Given the description of an element on the screen output the (x, y) to click on. 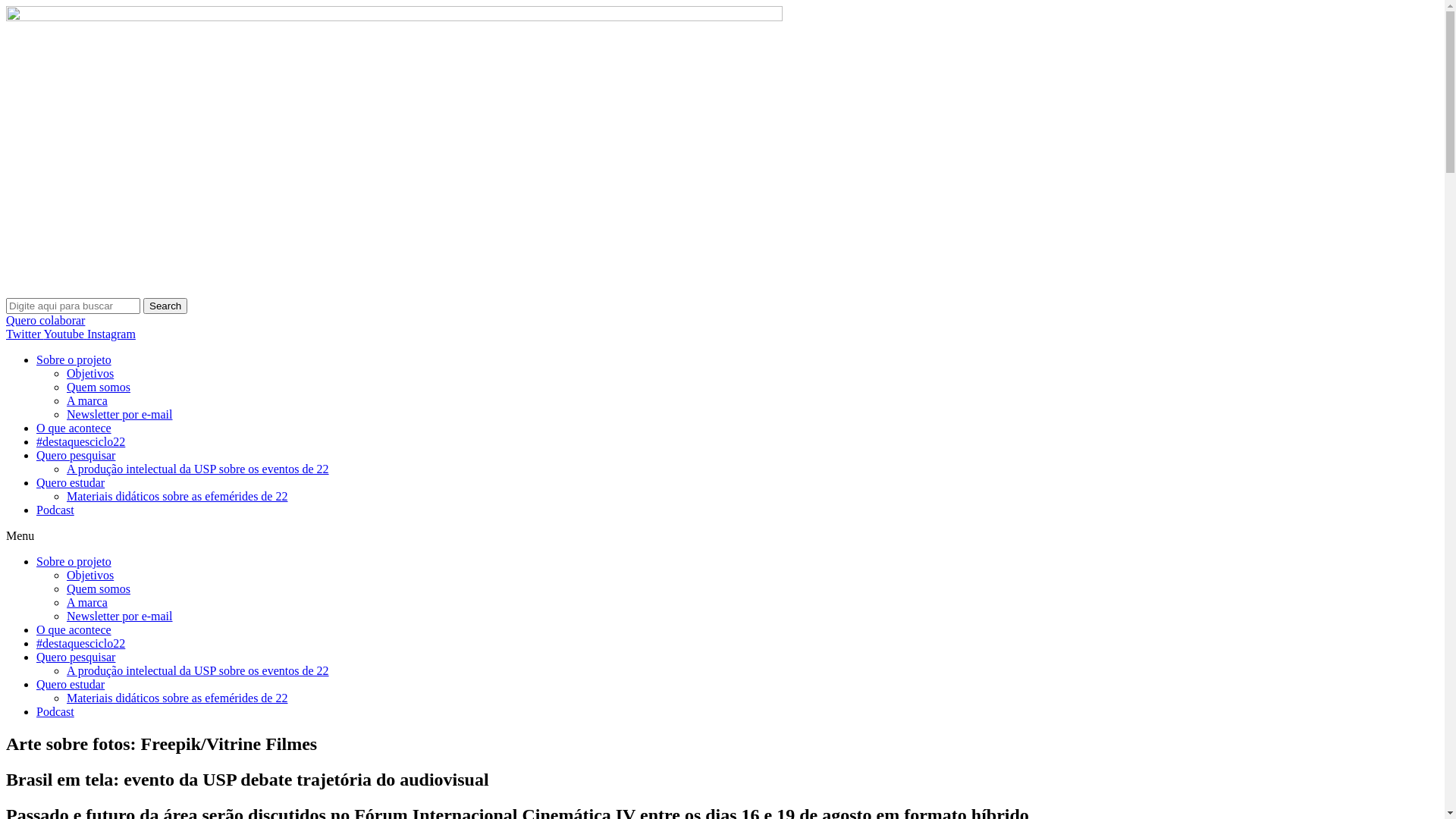
Quero colaborar Element type: text (45, 319)
#destaquesciclo22 Element type: text (80, 441)
Quem somos Element type: text (98, 588)
Quero pesquisar Element type: text (75, 454)
Quem somos Element type: text (98, 386)
O que acontece Element type: text (73, 427)
Quero estudar Element type: text (70, 482)
Search Element type: text (165, 305)
Quero pesquisar Element type: text (75, 656)
O que acontece Element type: text (73, 629)
Newsletter por e-mail Element type: text (119, 413)
Sobre o projeto Element type: text (73, 359)
Sobre o projeto Element type: text (73, 561)
Objetivos Element type: text (89, 574)
Podcast Element type: text (55, 509)
A marca Element type: text (86, 400)
Podcast Element type: text (55, 711)
Newsletter por e-mail Element type: text (119, 615)
Quero estudar Element type: text (70, 683)
#destaquesciclo22 Element type: text (80, 643)
Objetivos Element type: text (89, 373)
Instagram Element type: text (111, 333)
Twitter Element type: text (24, 333)
A marca Element type: text (86, 602)
Search Element type: hover (73, 305)
Youtube Element type: text (65, 333)
